Given the description of an element on the screen output the (x, y) to click on. 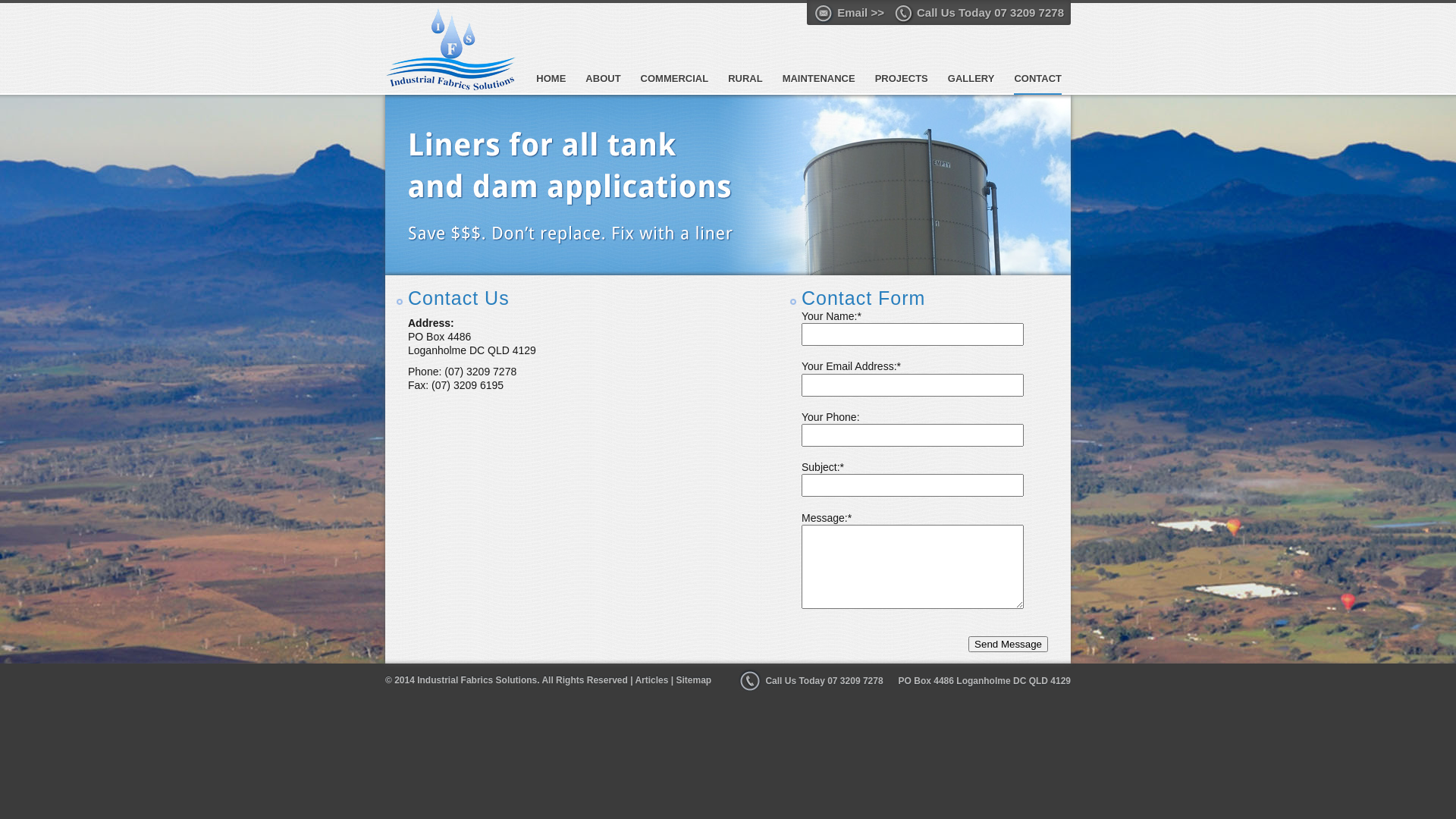
Articles Element type: text (651, 679)
CONTACT Element type: text (1037, 83)
Sitemap Element type: text (693, 679)
ABOUT Element type: text (602, 83)
Send Message Element type: text (1008, 644)
COMMERCIAL Element type: text (674, 83)
HOME Element type: text (550, 83)
GALLERY Element type: text (970, 83)
RURAL Element type: text (745, 83)
Email >> Element type: text (853, 14)
PROJECTS Element type: text (901, 83)
MAINTENANCE Element type: text (818, 83)
